Given the description of an element on the screen output the (x, y) to click on. 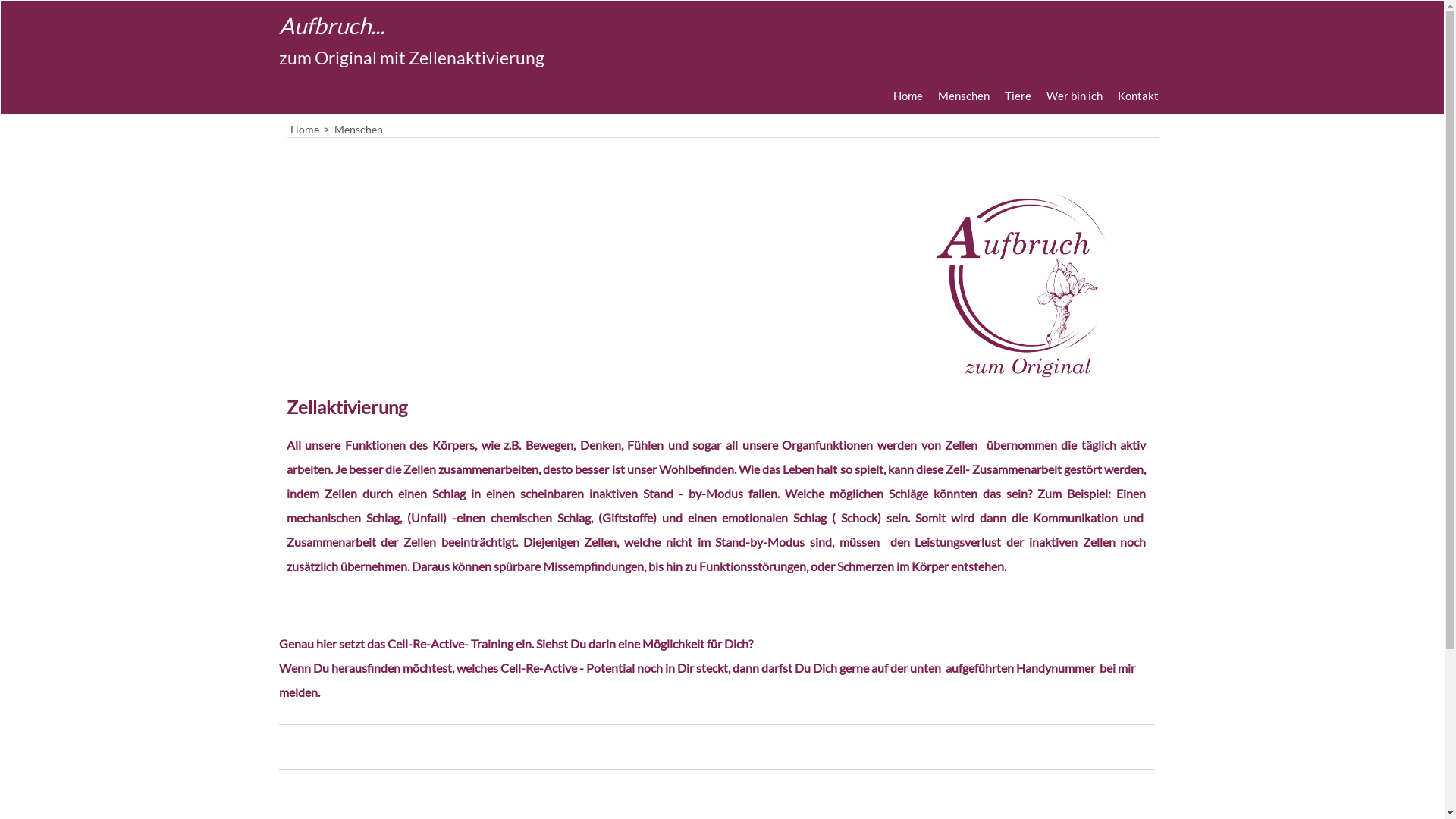
Menschen Element type: text (962, 95)
Aufbruch... Element type: text (500, 26)
Home  >  Element type: text (311, 128)
Home Element type: text (907, 95)
Wer bin ich Element type: text (1074, 95)
Tiere Element type: text (1017, 95)
Kontakt Element type: text (1138, 95)
